Given the description of an element on the screen output the (x, y) to click on. 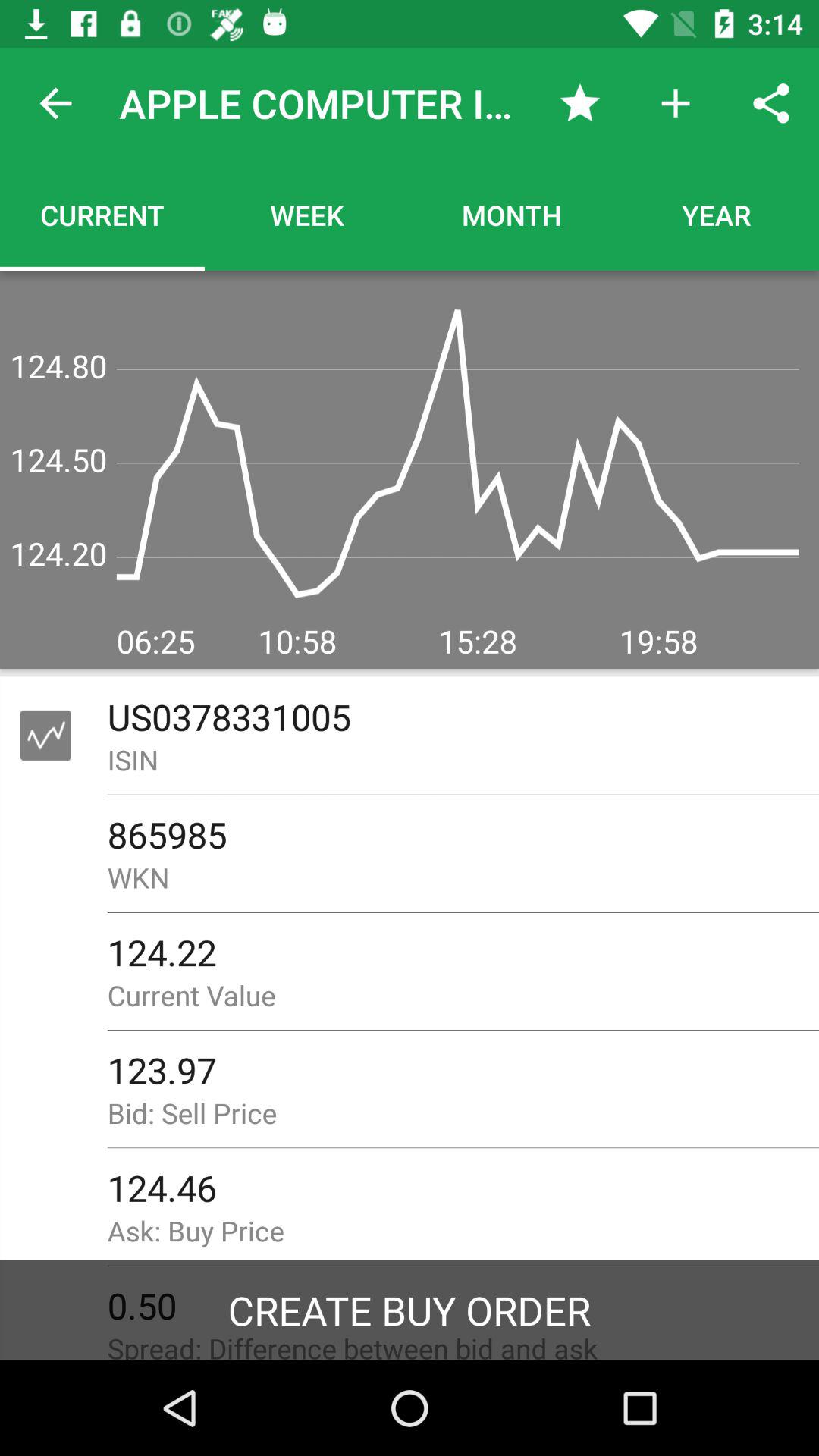
choose item above the current item (55, 103)
